Given the description of an element on the screen output the (x, y) to click on. 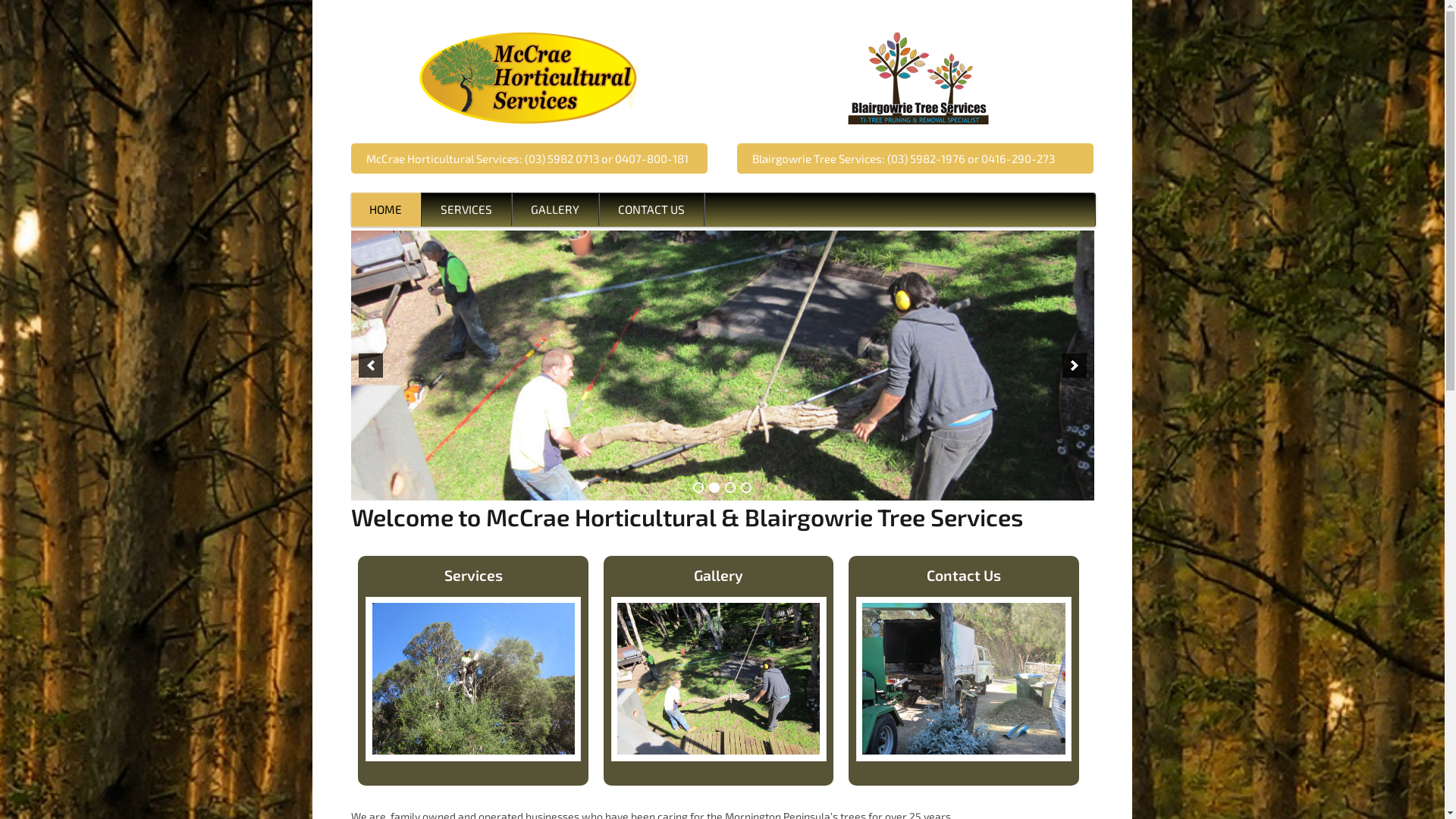
CONTACT US Element type: text (651, 209)
SERVICES Element type: text (465, 209)
Blairgowrie Tree Services: (03) 5982-1976 or Element type: text (866, 158)
Services Element type: text (473, 574)
HOME Element type: text (385, 209)
0407-800-181 Element type: text (650, 158)
GALLERY Element type: text (554, 209)
Contact Us Element type: text (963, 574)
McCrae Horticultural Services: (03) 5982 0713 or Element type: text (489, 158)
Gallery Element type: text (718, 574)
0416-290-273 Element type: text (1017, 158)
